Given the description of an element on the screen output the (x, y) to click on. 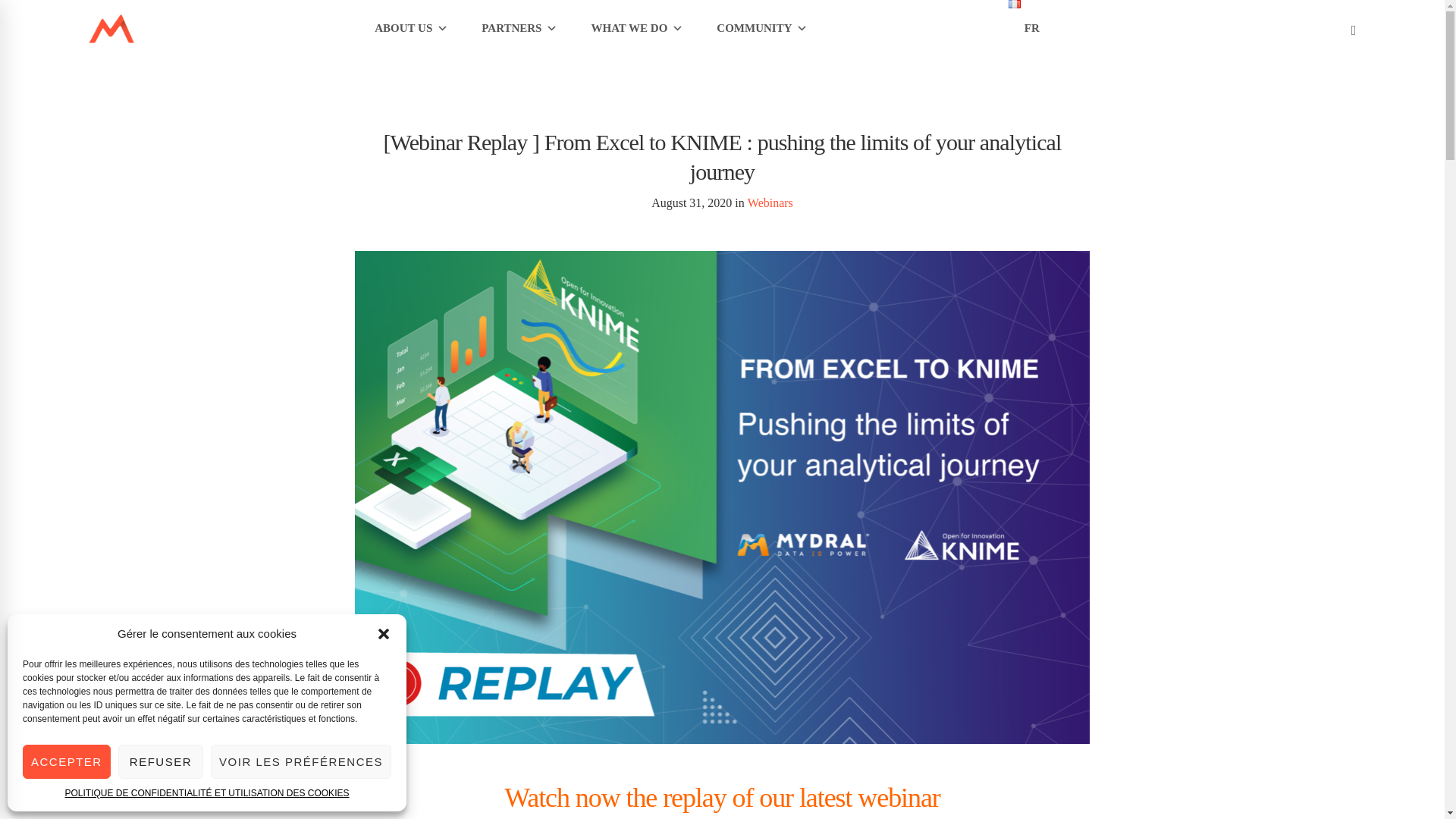
COMMUNITY (761, 28)
WHAT WE DO (636, 28)
ABOUT US (410, 28)
ACCEPTER (66, 761)
PARTNERS (519, 28)
REQUEST A DEMO (908, 28)
REFUSER (160, 761)
